Given the description of an element on the screen output the (x, y) to click on. 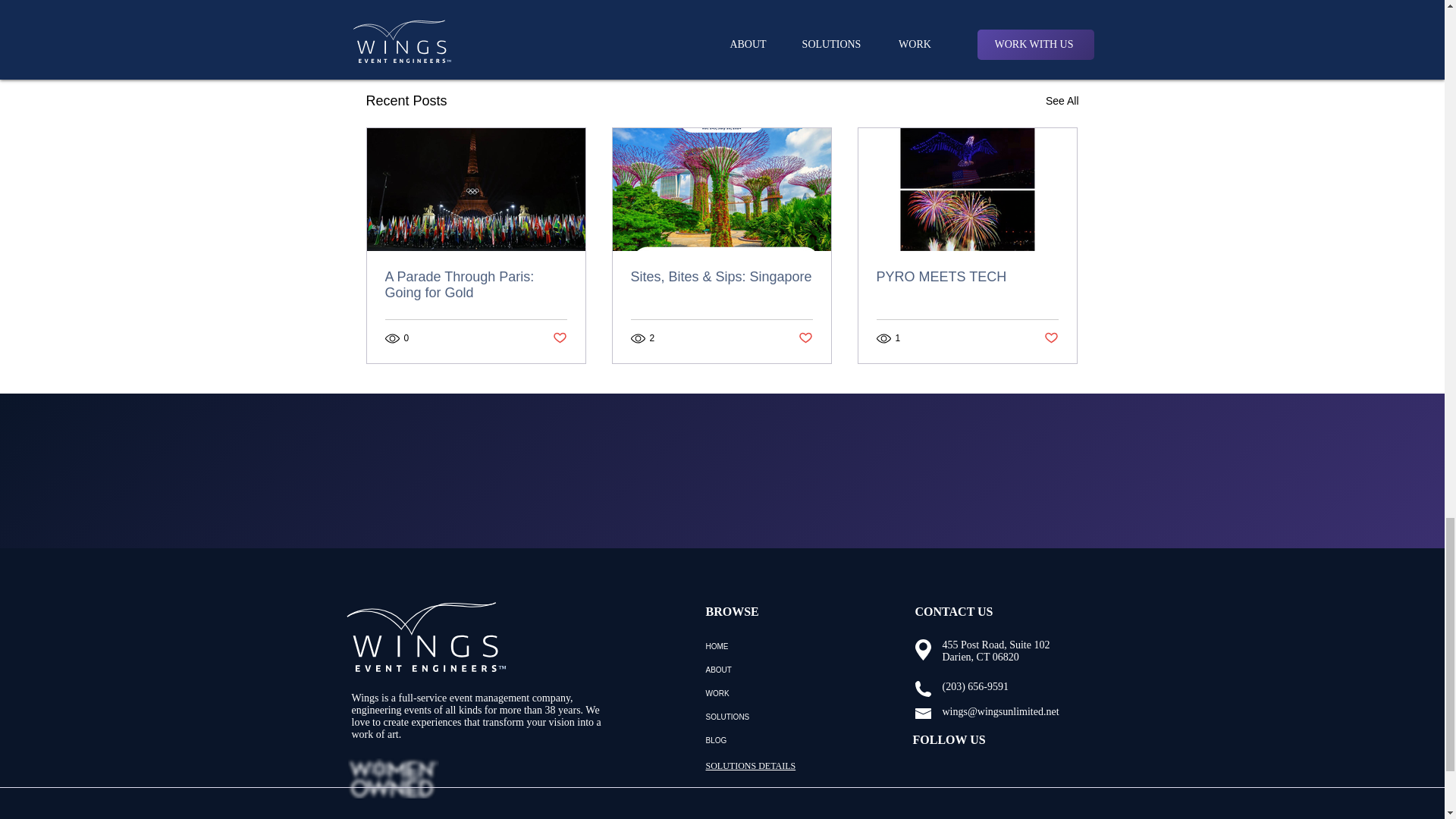
Post not marked as liked (1050, 338)
See All (990, 18)
A Parade Through Paris: Going for Gold (1061, 101)
Post not marked as liked (476, 285)
Post not marked as liked (804, 338)
PYRO MEETS TECH (558, 338)
